Given the description of an element on the screen output the (x, y) to click on. 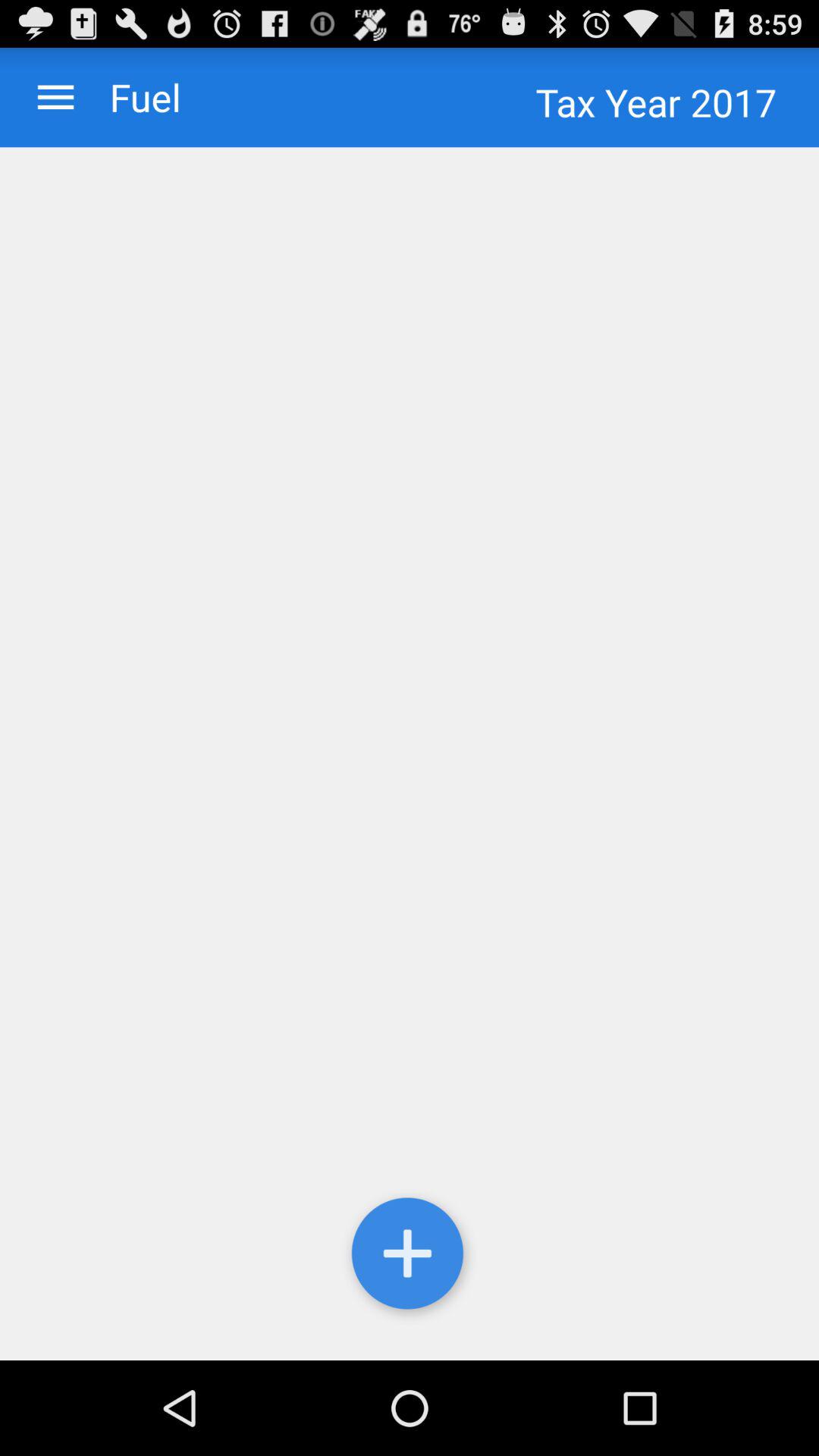
menu option (55, 97)
